Given the description of an element on the screen output the (x, y) to click on. 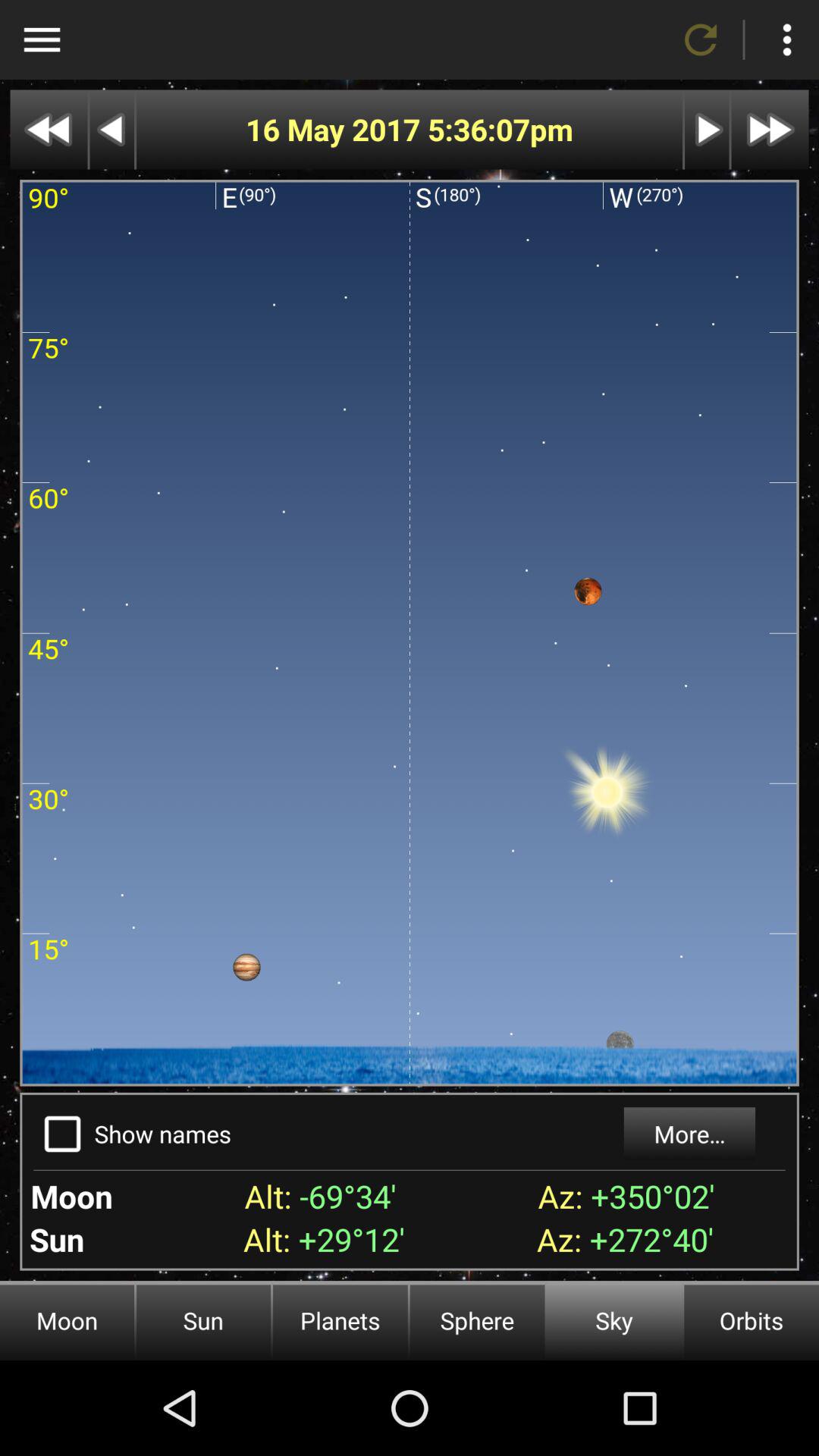
show/hide names (62, 1133)
